Given the description of an element on the screen output the (x, y) to click on. 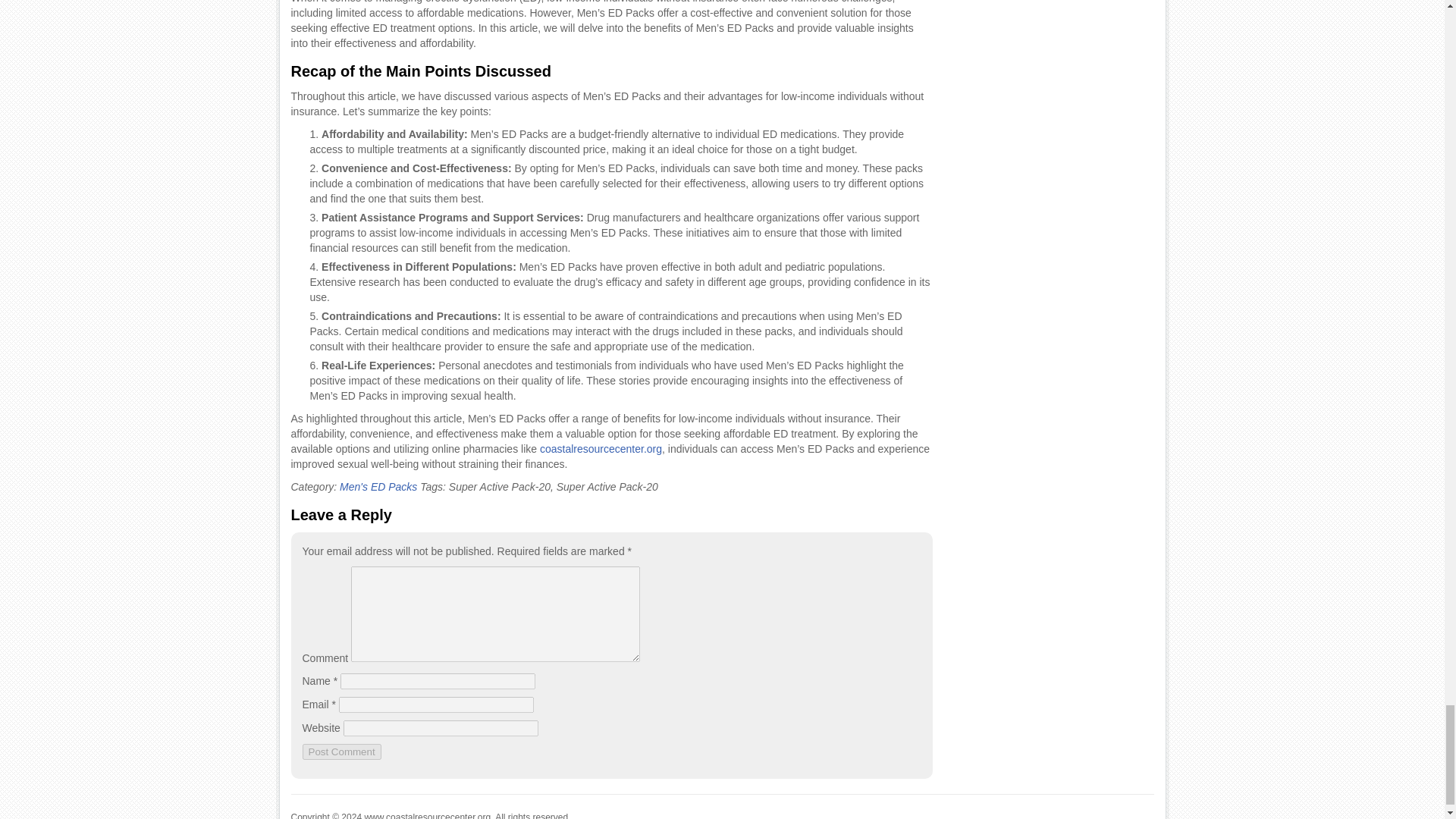
Post Comment (340, 751)
coastalresourcecenter.org (601, 449)
Men's ED Packs (377, 486)
Post Comment (340, 751)
